Given the description of an element on the screen output the (x, y) to click on. 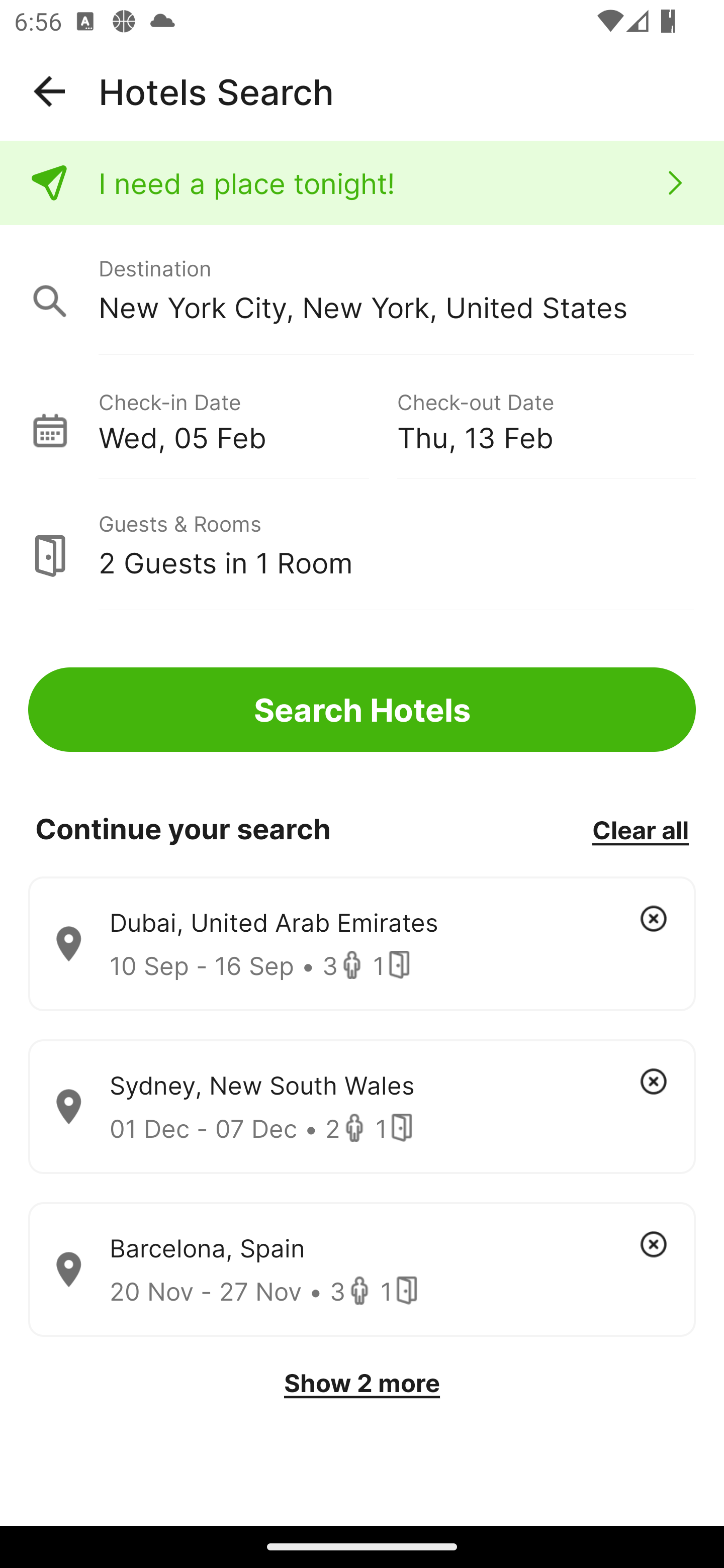
I need a place tonight! (362, 183)
Destination New York City, New York, United States (362, 290)
Check-in Date Wed, 05 Feb (247, 418)
Check-out Date Thu, 13 Feb (546, 418)
Guests & Rooms 2 Guests in 1 Room (362, 545)
Search Hotels (361, 709)
Clear all (640, 829)
Sydney, New South Wales 01 Dec - 07 Dec • 2  1  (361, 1106)
Barcelona, Spain 20 Nov - 27 Nov • 3  1  (361, 1269)
Show 2 more (362, 1382)
